Given the description of an element on the screen output the (x, y) to click on. 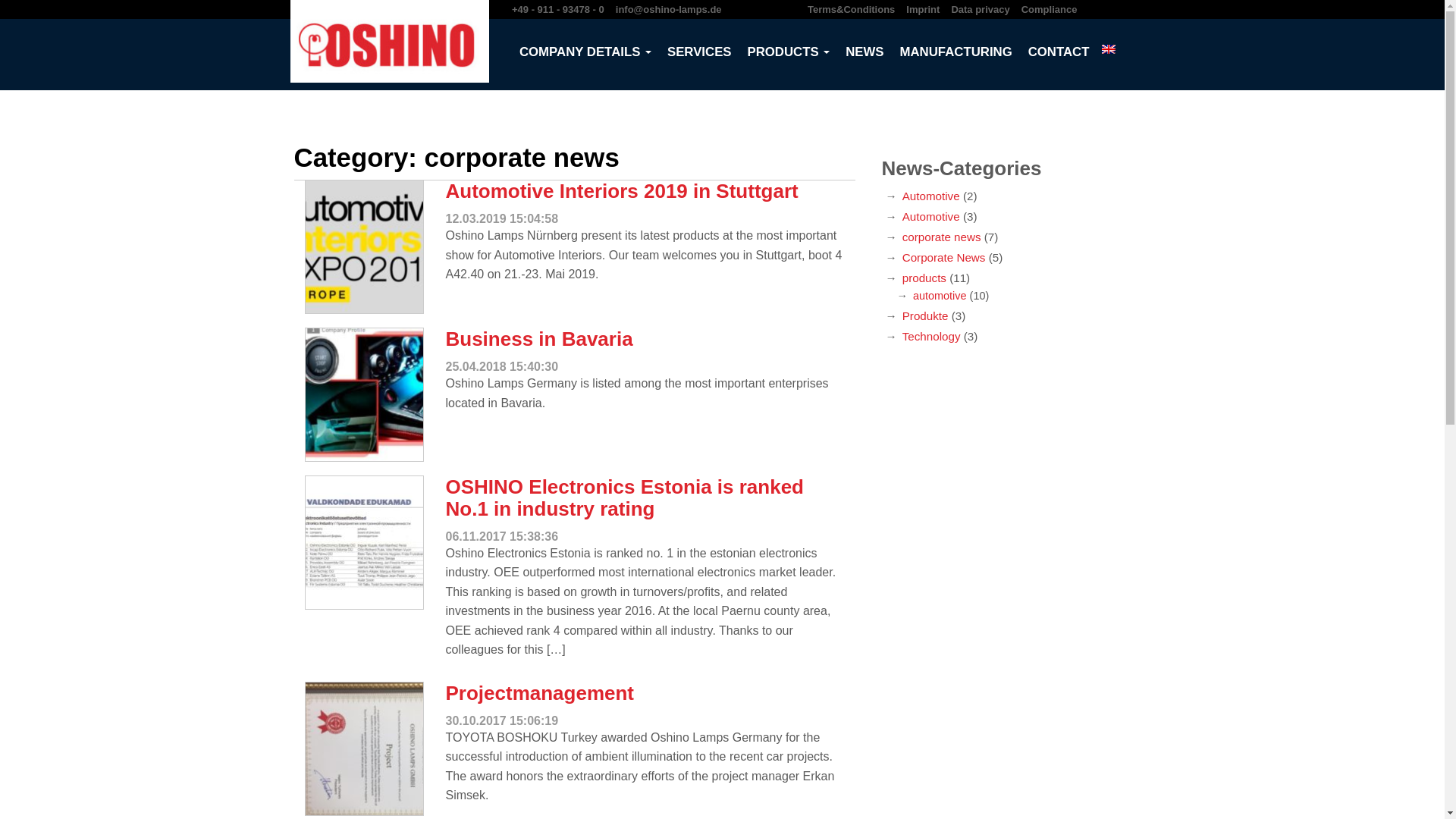
Data privacy (979, 9)
COMPANY DETAILS (584, 51)
Imprint (922, 9)
Compliance (1049, 9)
SERVICES (699, 51)
